Given the description of an element on the screen output the (x, y) to click on. 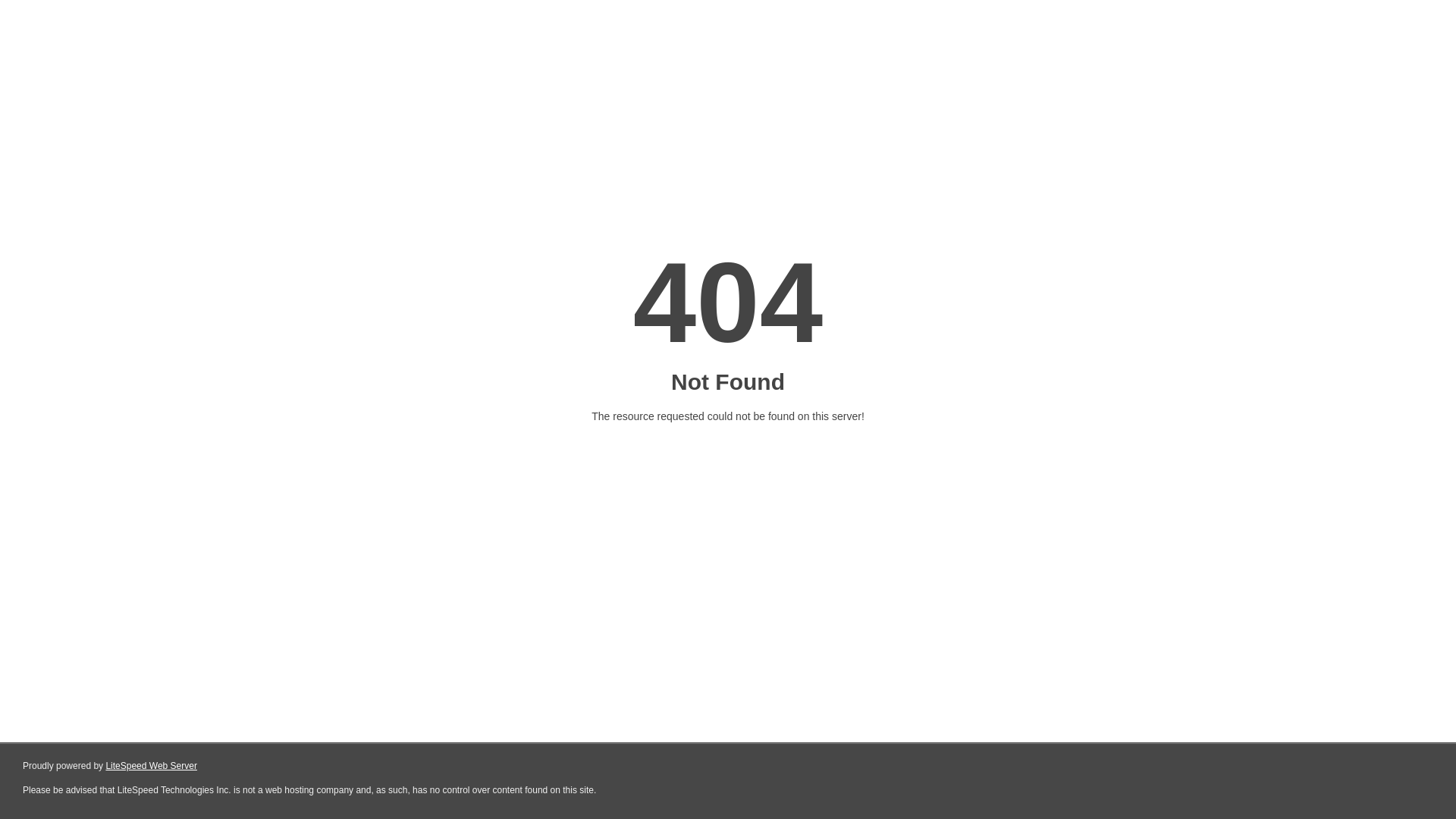
LiteSpeed Web Server Element type: text (151, 765)
